Given the description of an element on the screen output the (x, y) to click on. 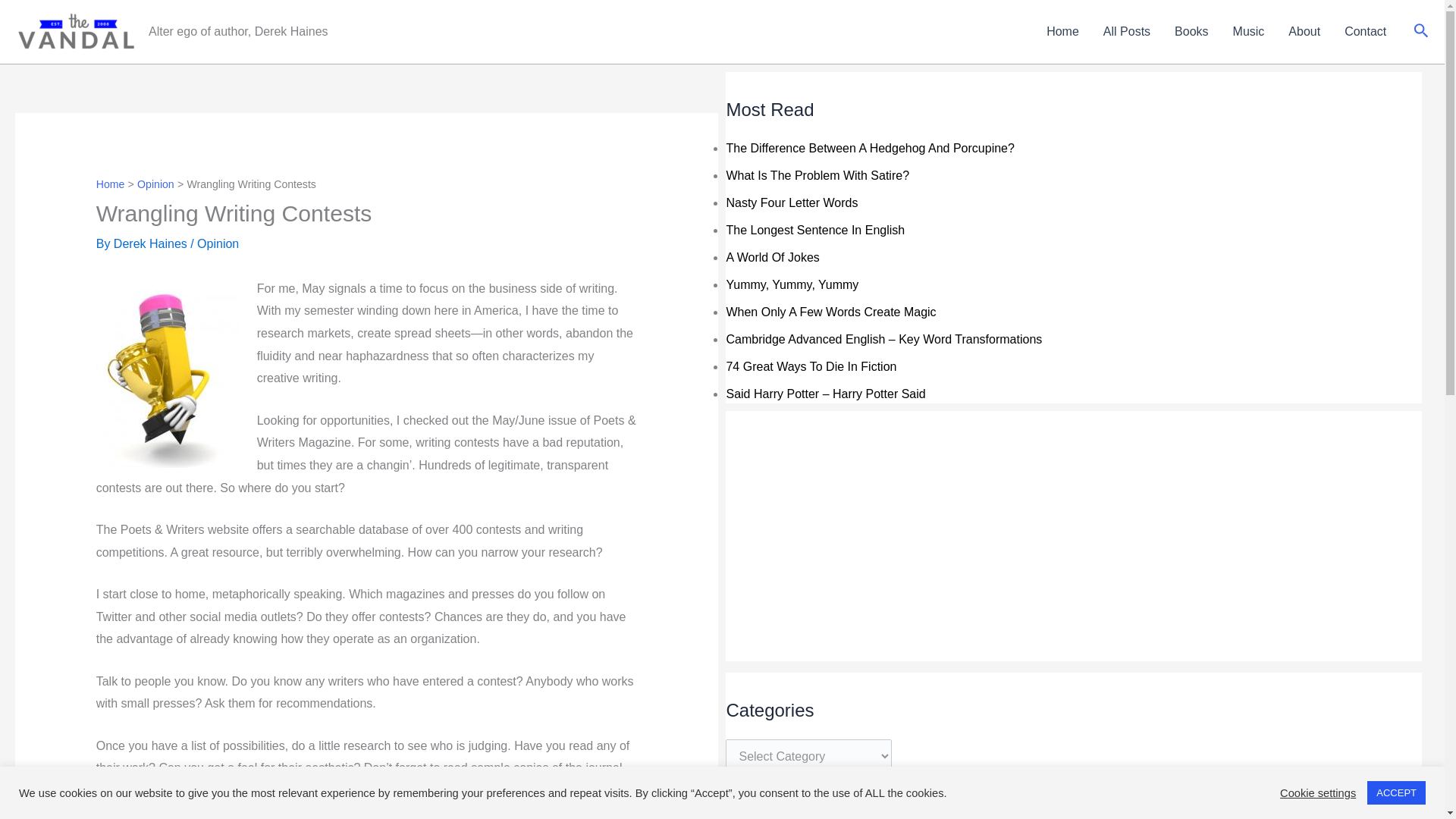
Yummy, Yummy, Yummy (792, 284)
Advertisement (854, 554)
View all posts by Derek Haines (151, 243)
Home (110, 184)
Derek Haines (151, 243)
Nasty Four Letter Words (791, 202)
Books (1190, 31)
Books (1190, 31)
Contact (1364, 31)
Home (1061, 31)
